Given the description of an element on the screen output the (x, y) to click on. 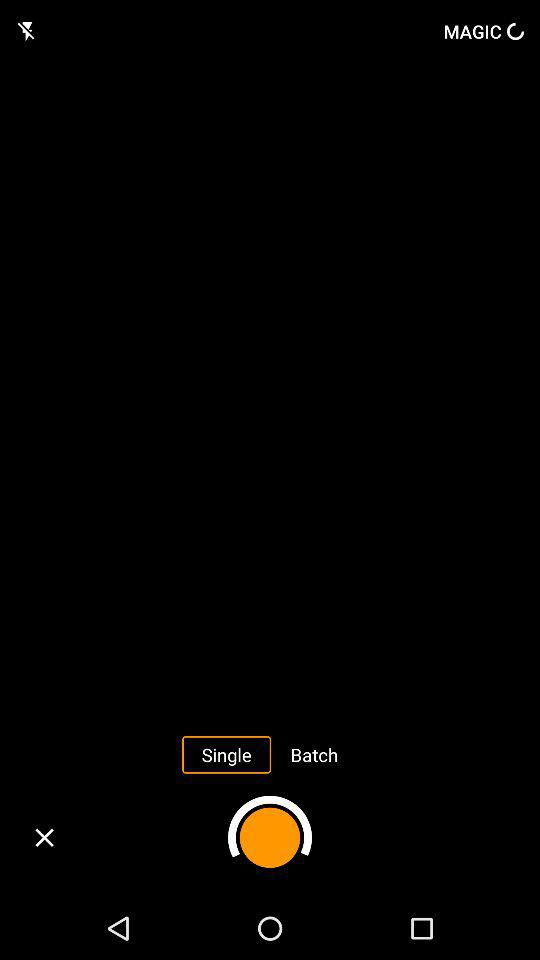
tap magic (483, 31)
